Given the description of an element on the screen output the (x, y) to click on. 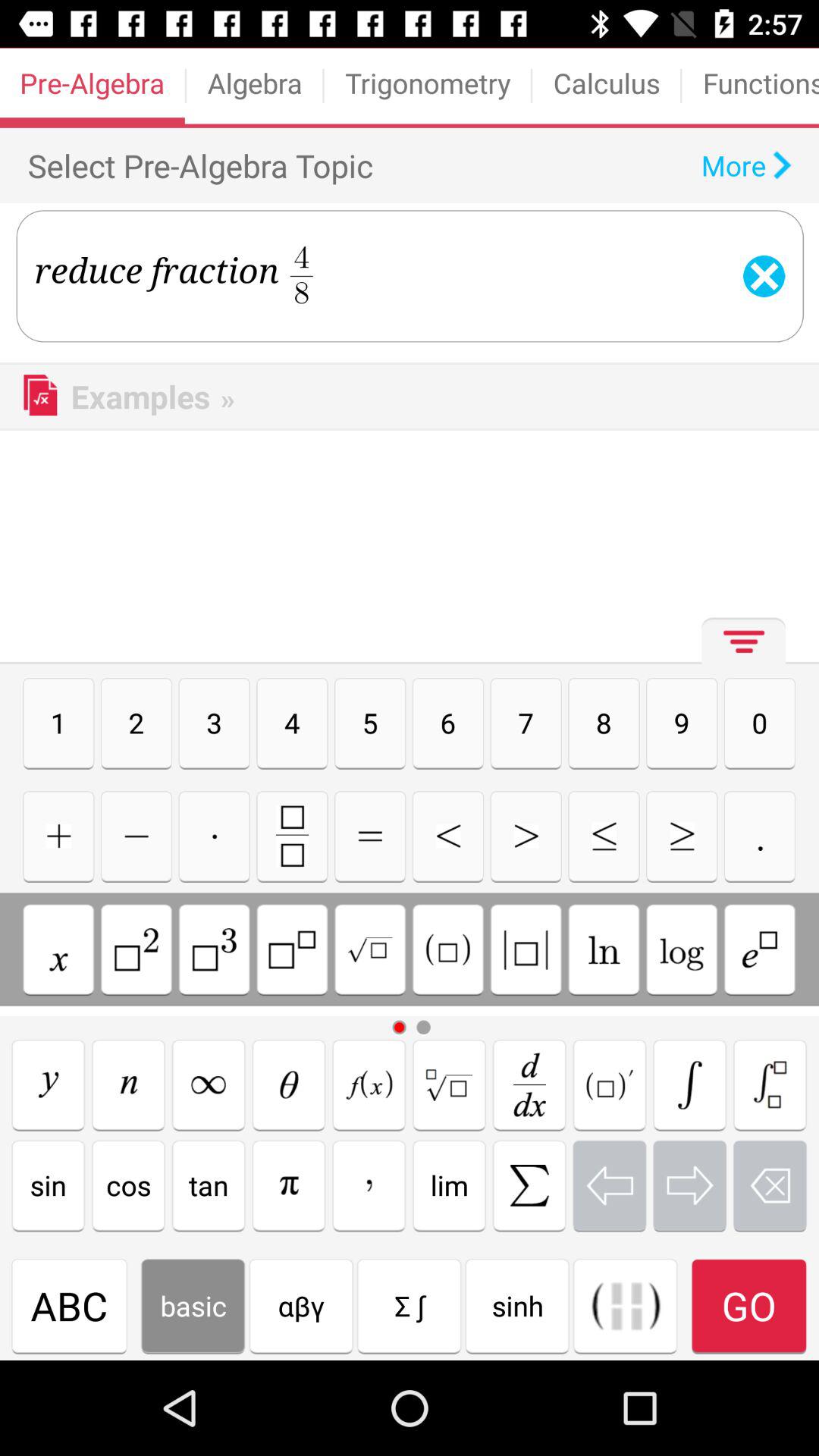
use a pie (288, 1185)
